Given the description of an element on the screen output the (x, y) to click on. 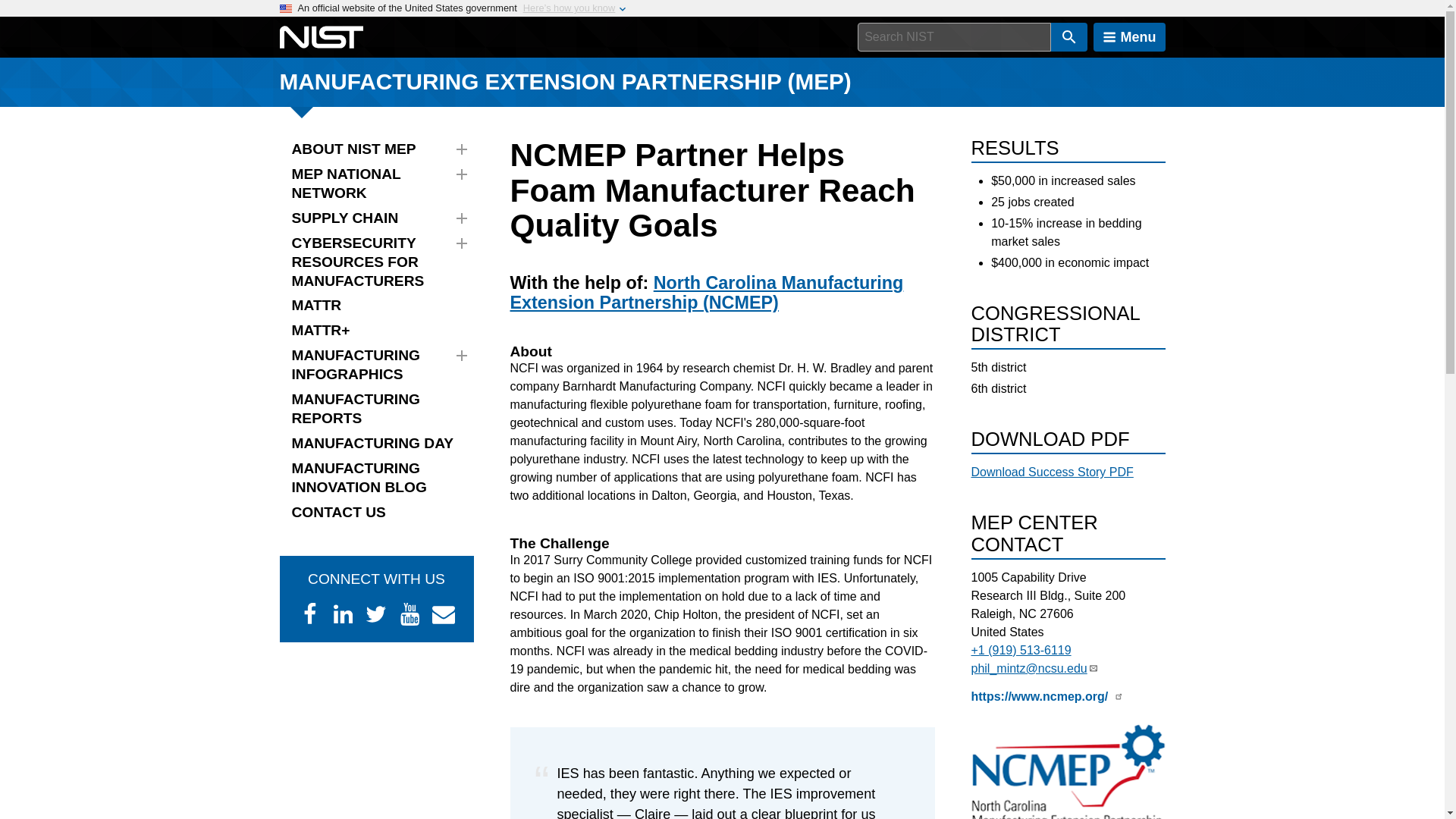
Download Success Story PDF (1051, 472)
Menu (1129, 36)
National Institute of Standards and Technology (320, 36)
MANUFACTURING REPORTS (376, 409)
MANUFACTURING INNOVATION BLOG (376, 478)
Facebook (309, 613)
CYBERSECURITY RESOURCES FOR MANUFACTURERS (376, 262)
SUPPLY CHAIN (376, 218)
CONTACT US (376, 512)
Youtube (409, 613)
GovDelivery (443, 613)
LinkedIn (342, 613)
MANUFACTURING INFOGRAPHICS (376, 365)
MATTR (376, 305)
